Given the description of an element on the screen output the (x, y) to click on. 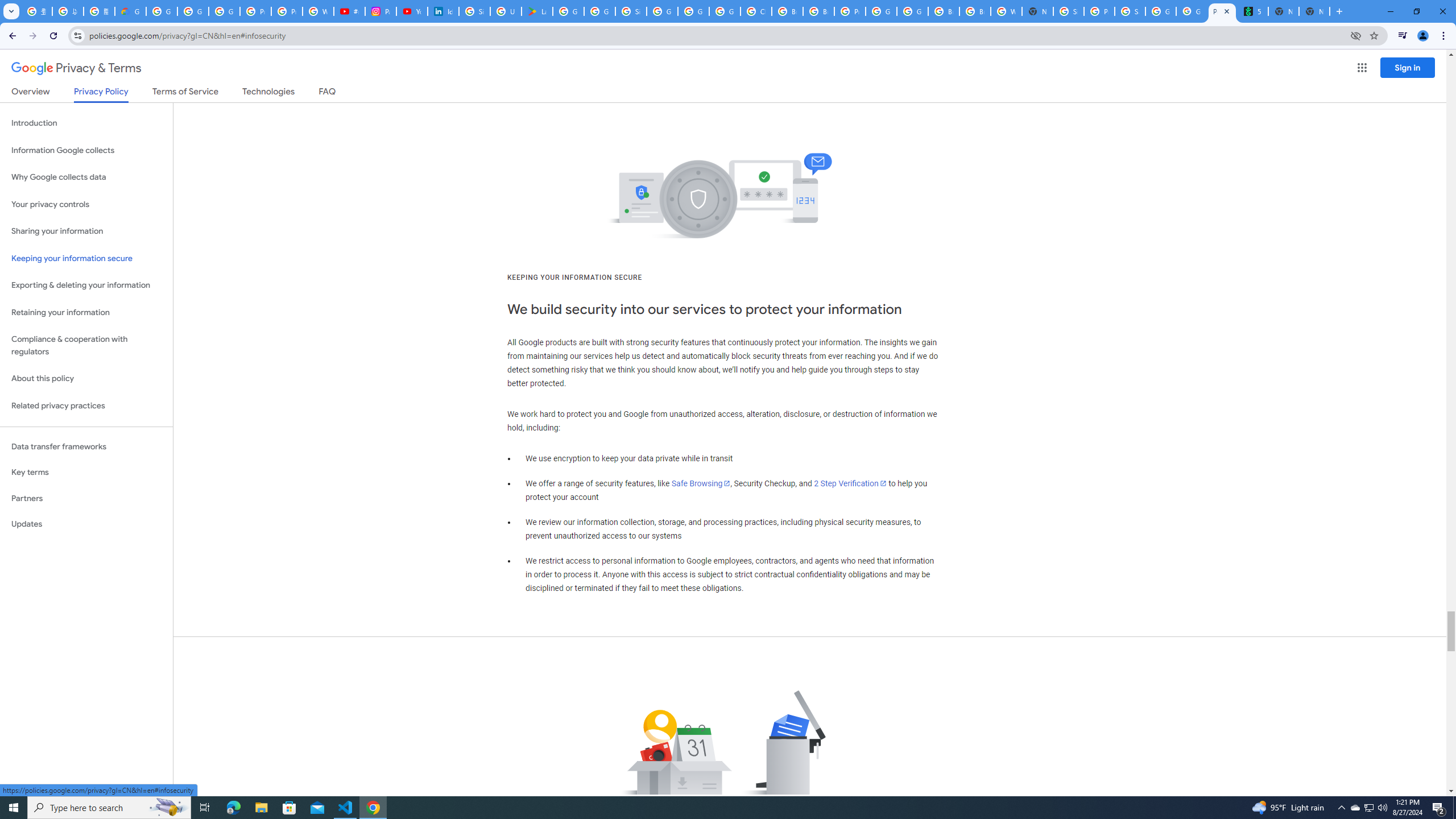
About this policy (86, 379)
YouTube Culture & Trends - On The Rise: Handcam Videos (411, 11)
